Given the description of an element on the screen output the (x, y) to click on. 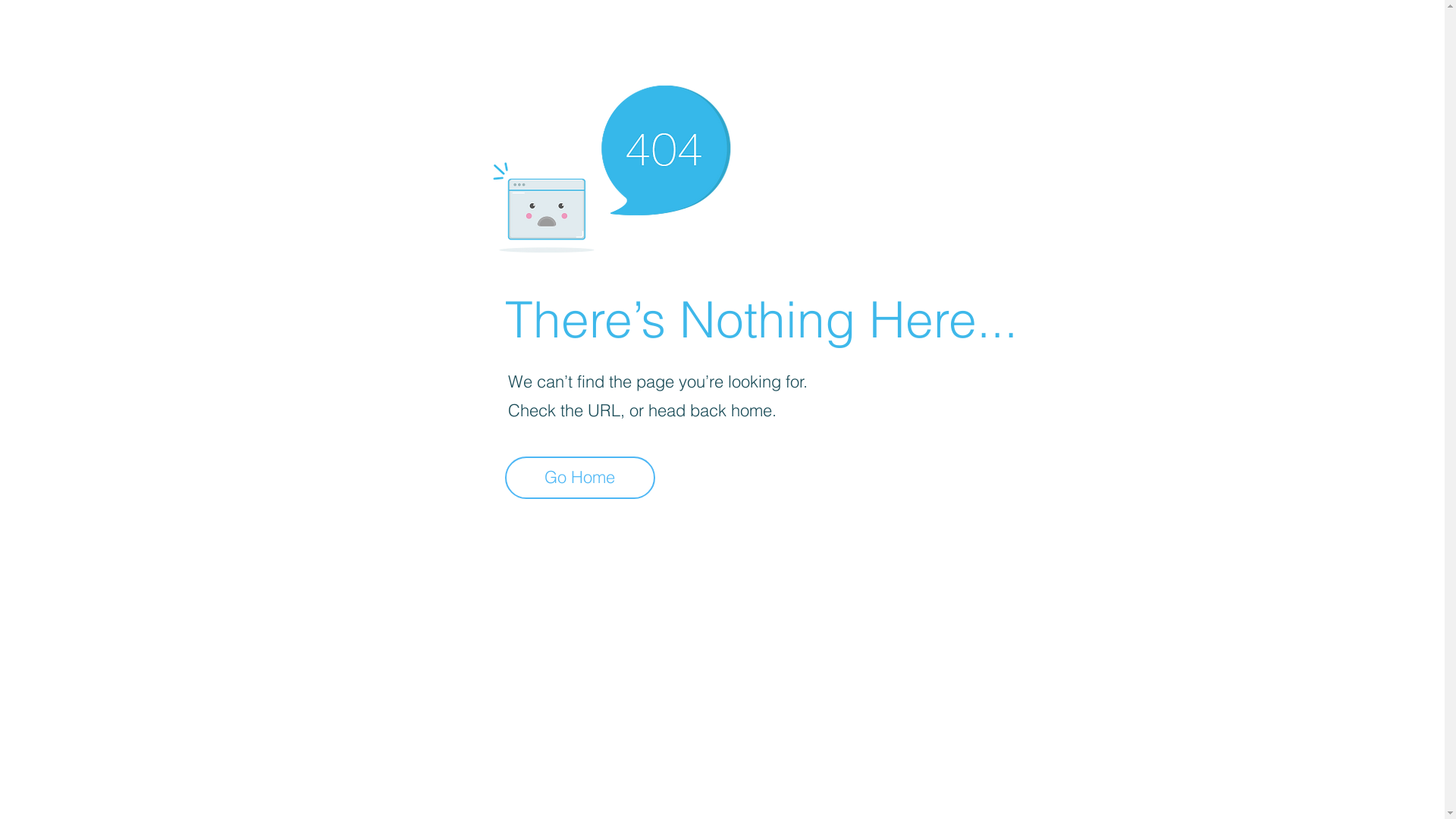
404-icon_2.png Element type: hover (610, 164)
Go Home Element type: text (580, 477)
